Given the description of an element on the screen output the (x, y) to click on. 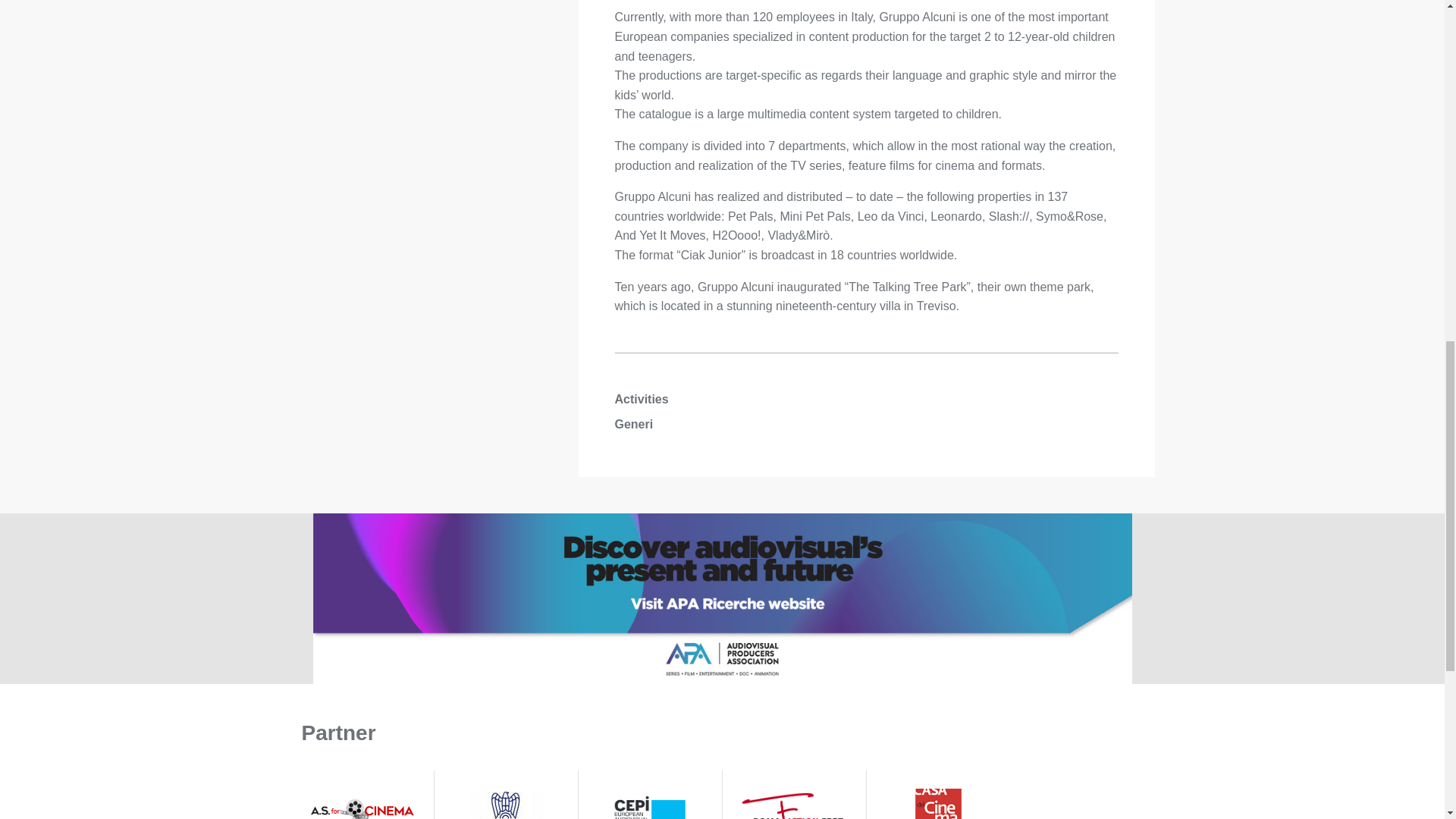
permalink to International Activities (722, 597)
